Given the description of an element on the screen output the (x, y) to click on. 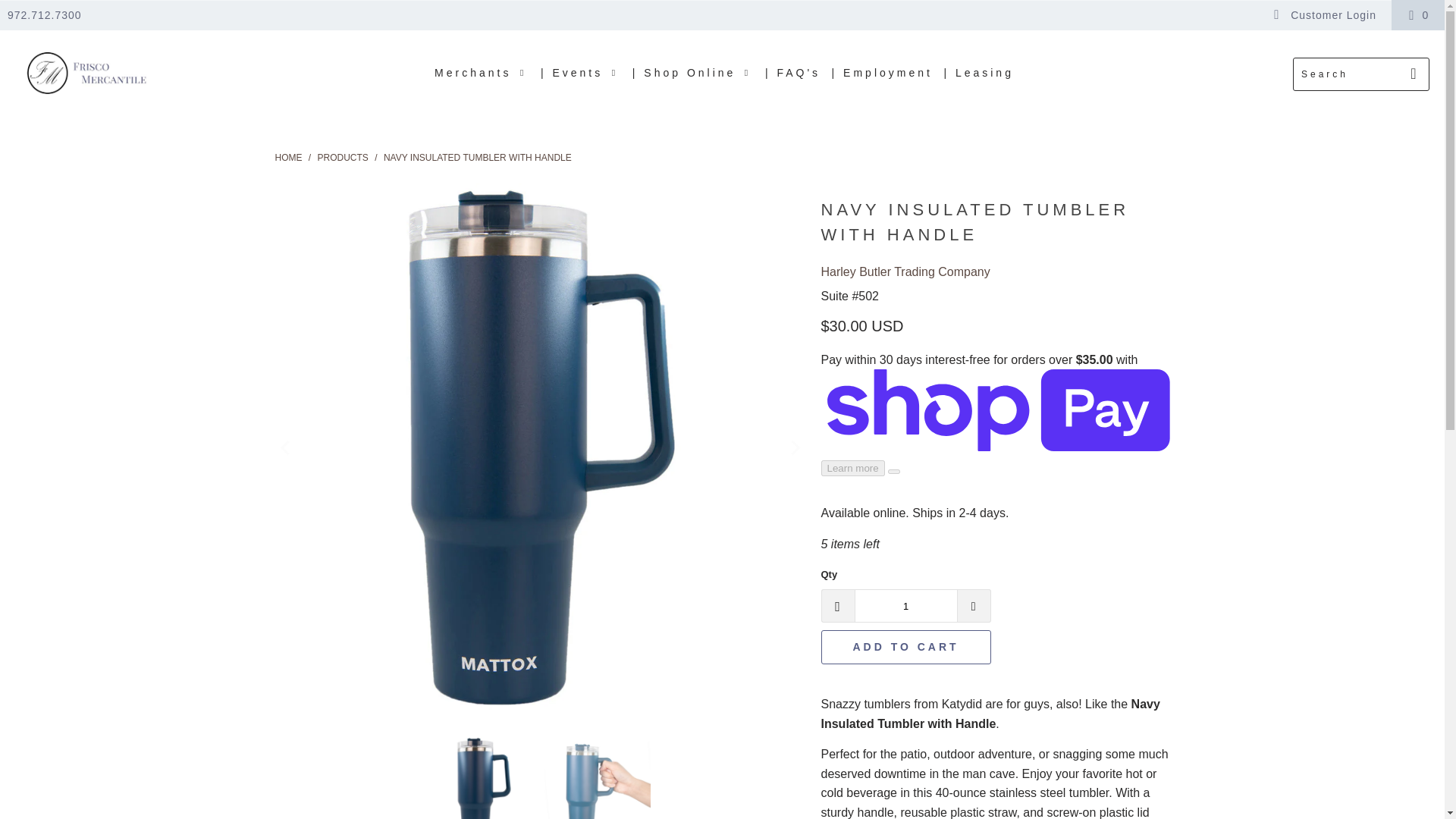
Frisco Mercantile (84, 73)
My Account  (1324, 15)
Frisco Mercantile (288, 156)
Harley Butler Trading Company (905, 271)
1 (904, 605)
Products (342, 156)
